Given the description of an element on the screen output the (x, y) to click on. 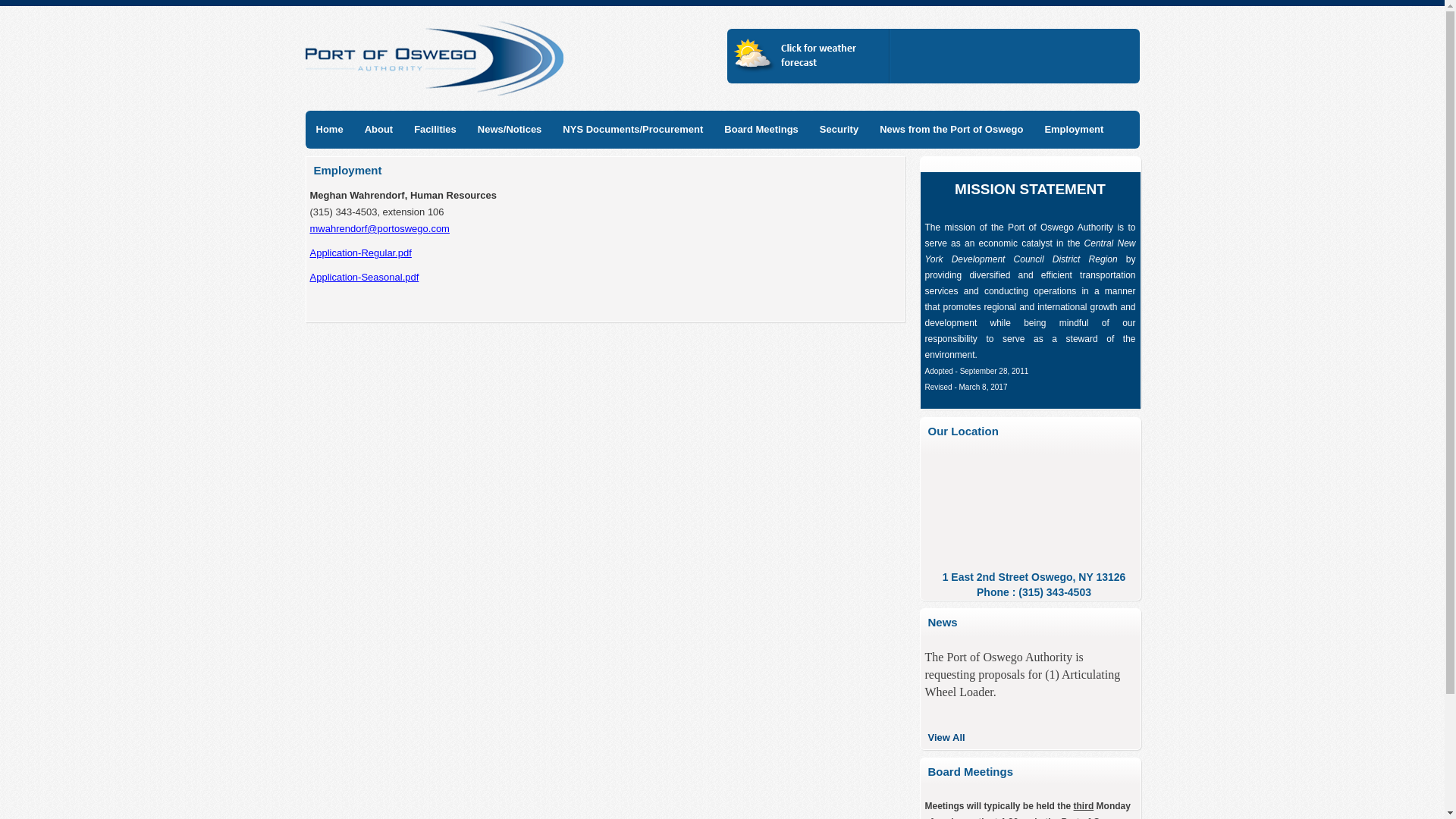
Board Meetings (761, 129)
San Francisco, California Weather Forecast (791, 73)
Facilities (435, 129)
About (378, 129)
Home (328, 129)
